Given the description of an element on the screen output the (x, y) to click on. 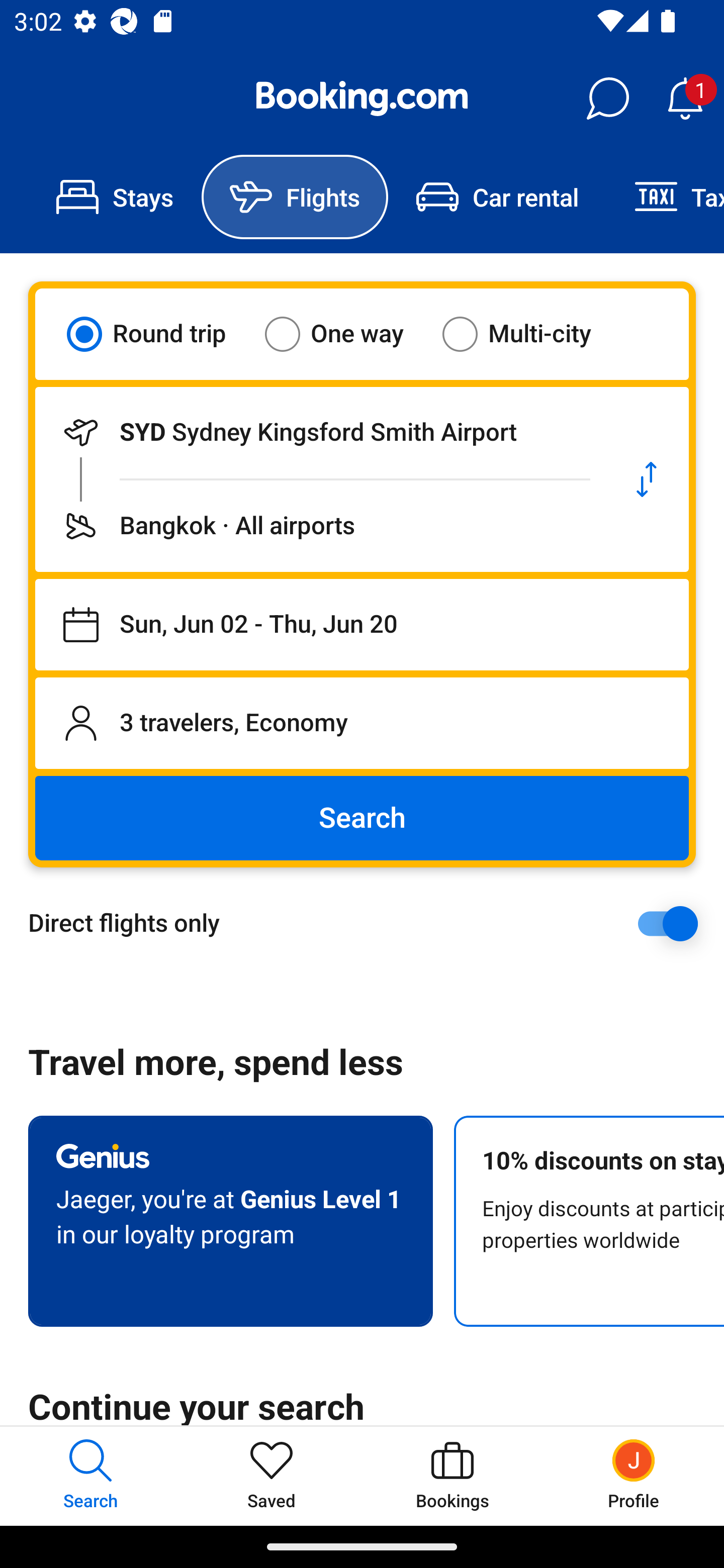
Messages (607, 98)
Notifications (685, 98)
Stays (114, 197)
Flights (294, 197)
Car rental (497, 197)
Taxi (665, 197)
One way (346, 333)
Multi-city (528, 333)
Departing from SYD Sydney Kingsford Smith Airport (319, 432)
Swap departure location and destination (646, 479)
Flying to Bangkok · All airports (319, 525)
Departing on Sun, Jun 02, returning on Thu, Jun 20 (361, 624)
3 travelers, Economy (361, 722)
Search (361, 818)
Direct flights only (369, 923)
Saved (271, 1475)
Bookings (452, 1475)
Profile (633, 1475)
